Given the description of an element on the screen output the (x, y) to click on. 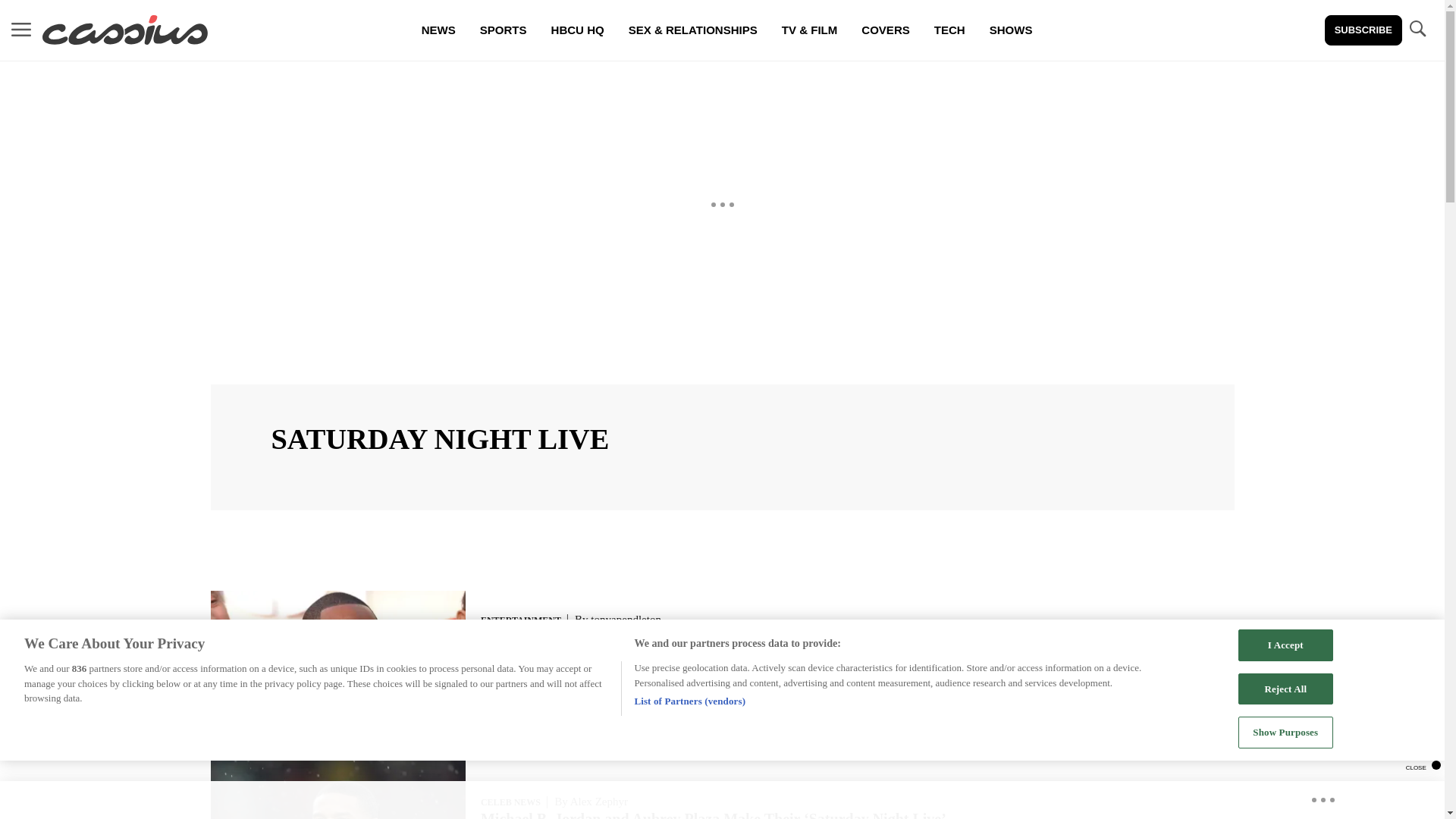
MENU (20, 29)
NEWS (438, 30)
SUBSCRIBE (1363, 30)
TOGGLE SEARCH (1417, 28)
SPORTS (502, 30)
tonyapendleton (626, 619)
TOGGLE SEARCH (1417, 30)
ENTERTAINMENT (520, 620)
Alex Zephyr (598, 801)
CELEB NEWS (510, 801)
SHOWS (1010, 30)
HBCU HQ (576, 30)
COVERS (884, 30)
MENU (20, 30)
TECH (948, 30)
